Given the description of an element on the screen output the (x, y) to click on. 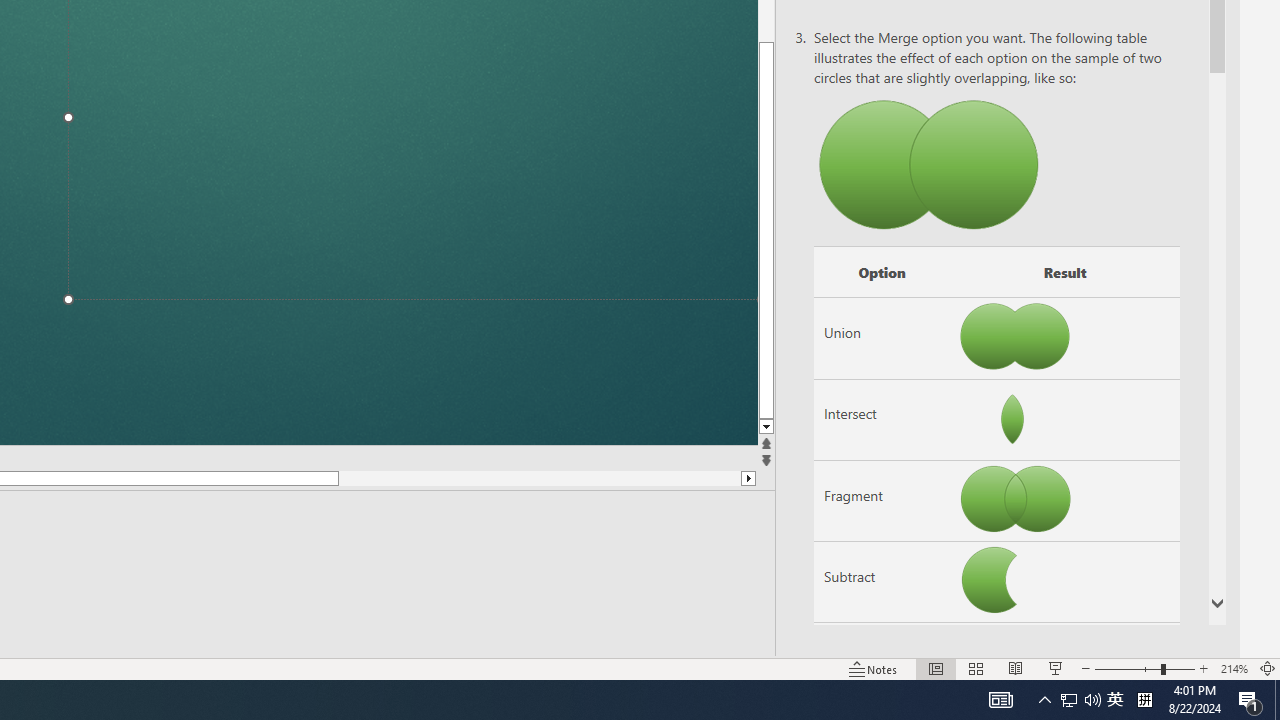
Intersect (881, 419)
